Given the description of an element on the screen output the (x, y) to click on. 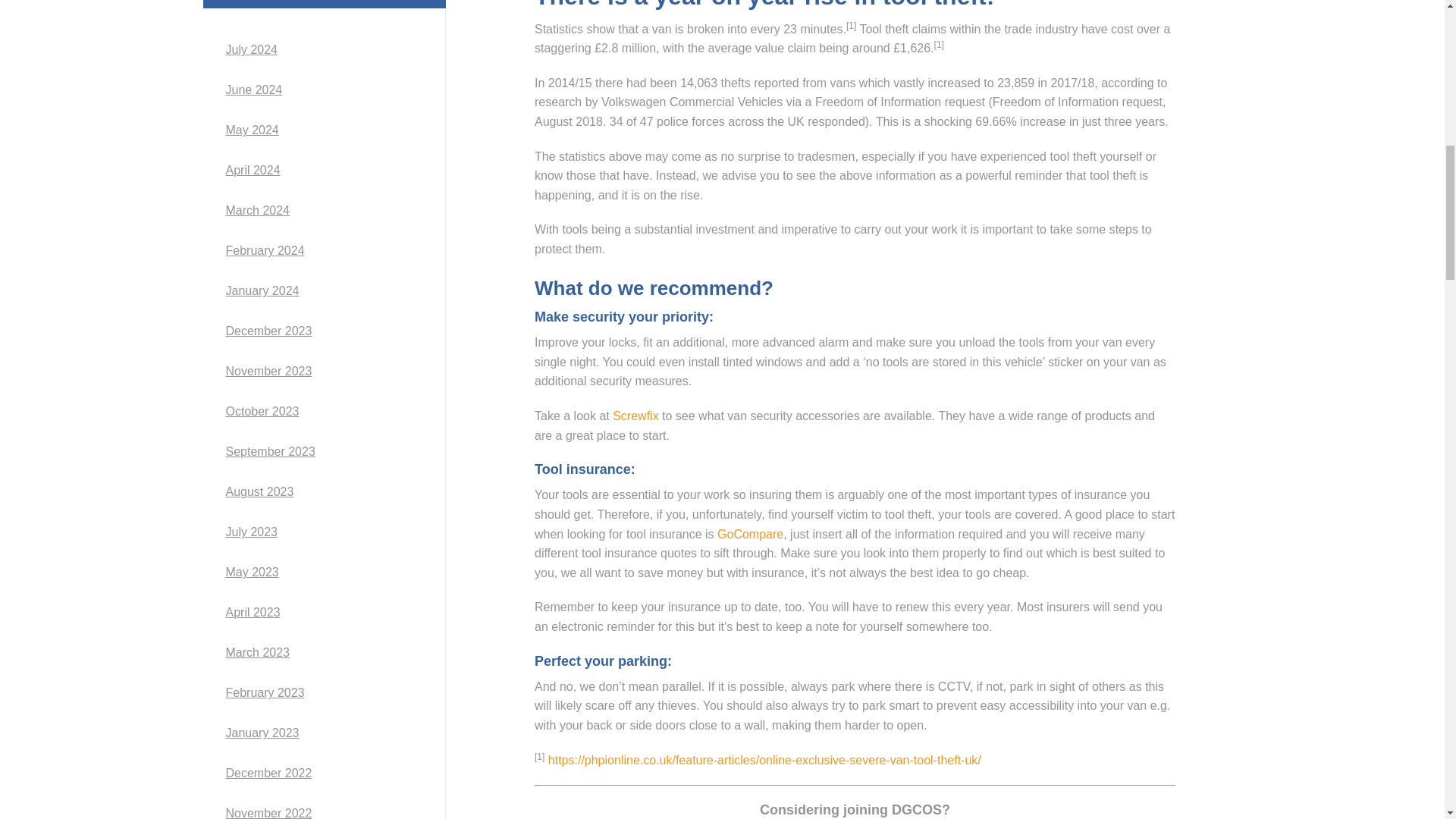
April 2024 (323, 170)
June 2024 (323, 89)
July 2024 (323, 49)
May 2024 (323, 130)
February 2024 (323, 250)
March 2024 (323, 210)
